Given the description of an element on the screen output the (x, y) to click on. 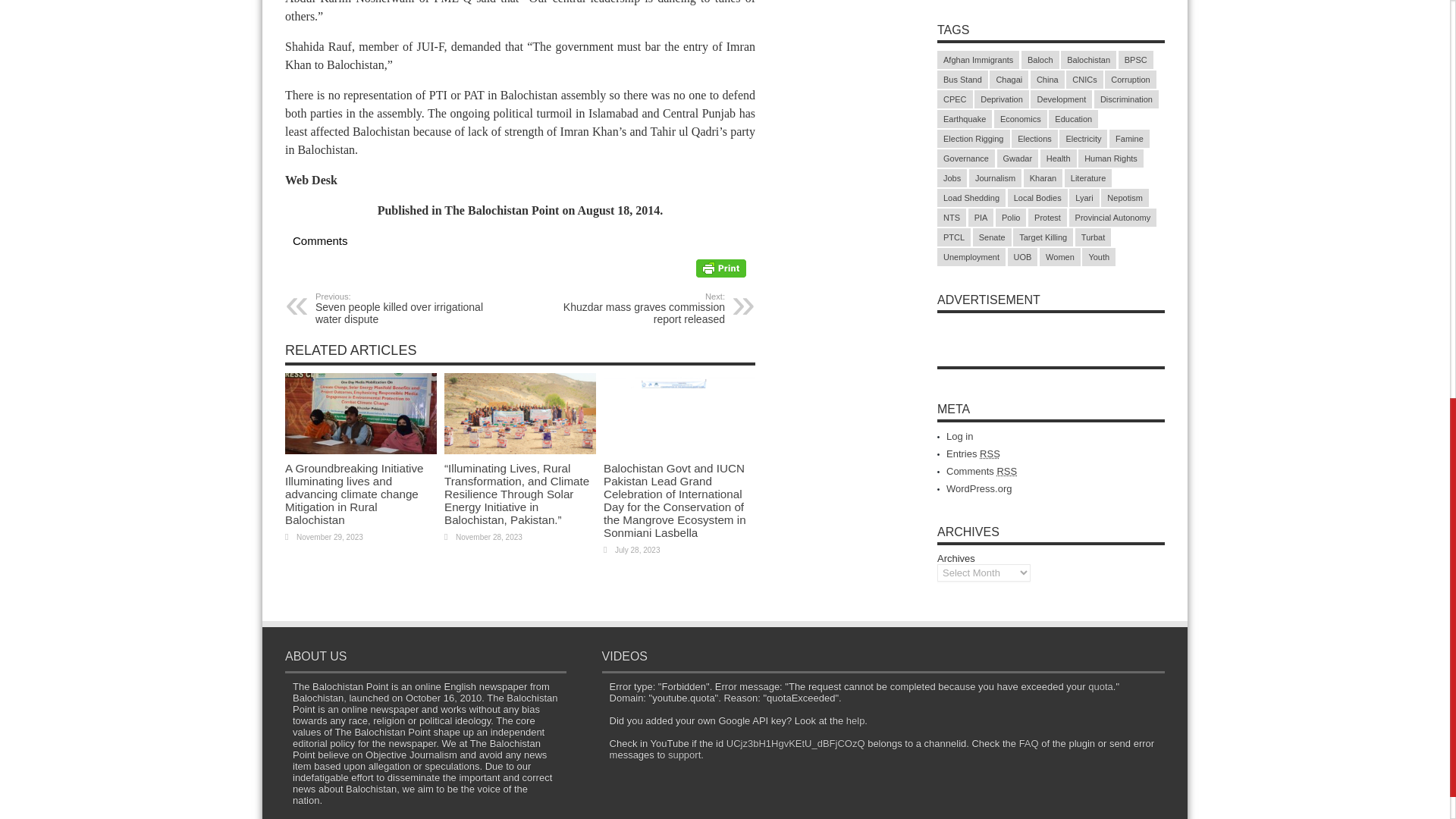
Really Simple Syndication (631, 308)
Really Simple Syndication (1005, 471)
